Given the description of an element on the screen output the (x, y) to click on. 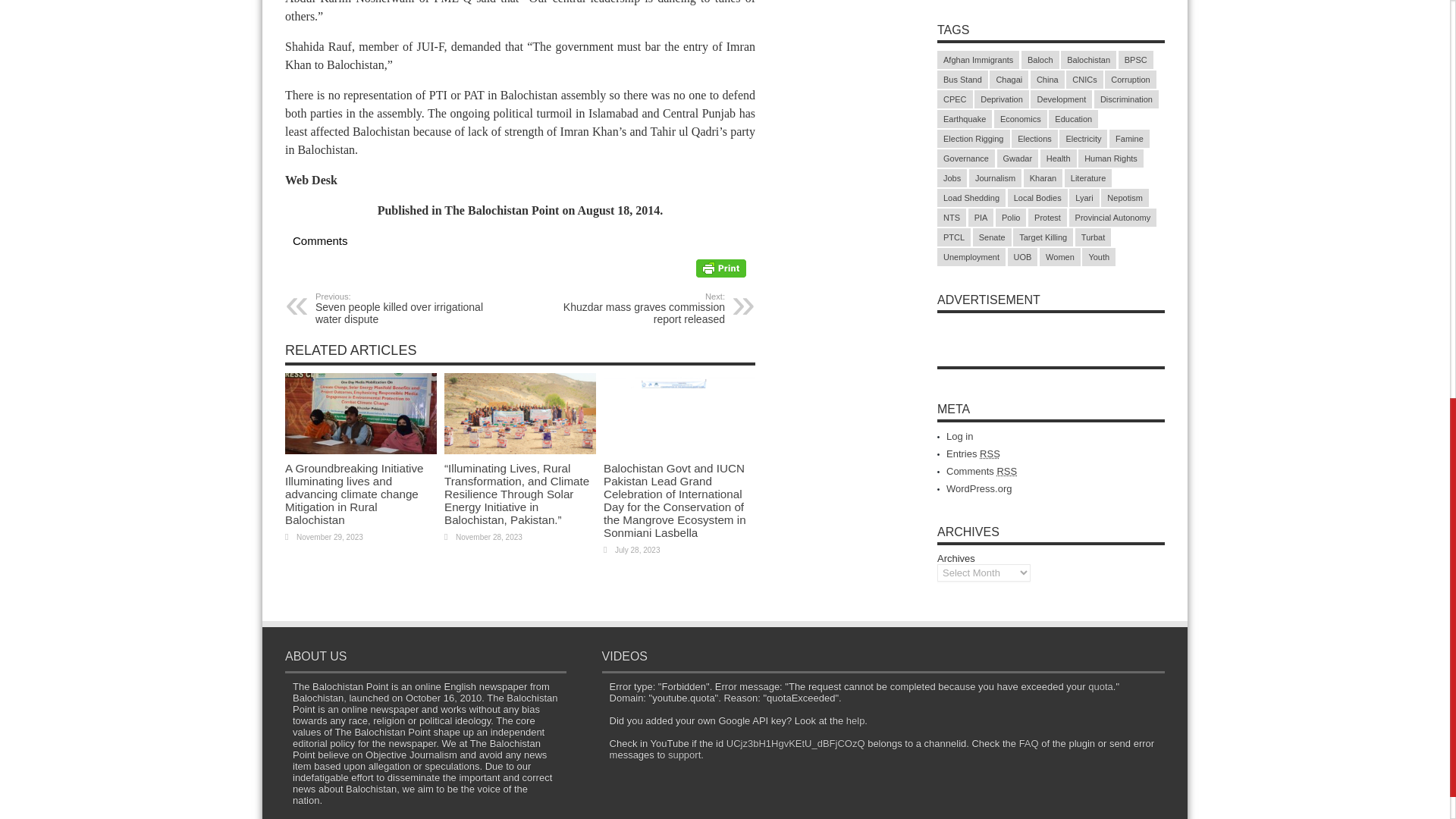
Really Simple Syndication (631, 308)
Really Simple Syndication (1005, 471)
